Given the description of an element on the screen output the (x, y) to click on. 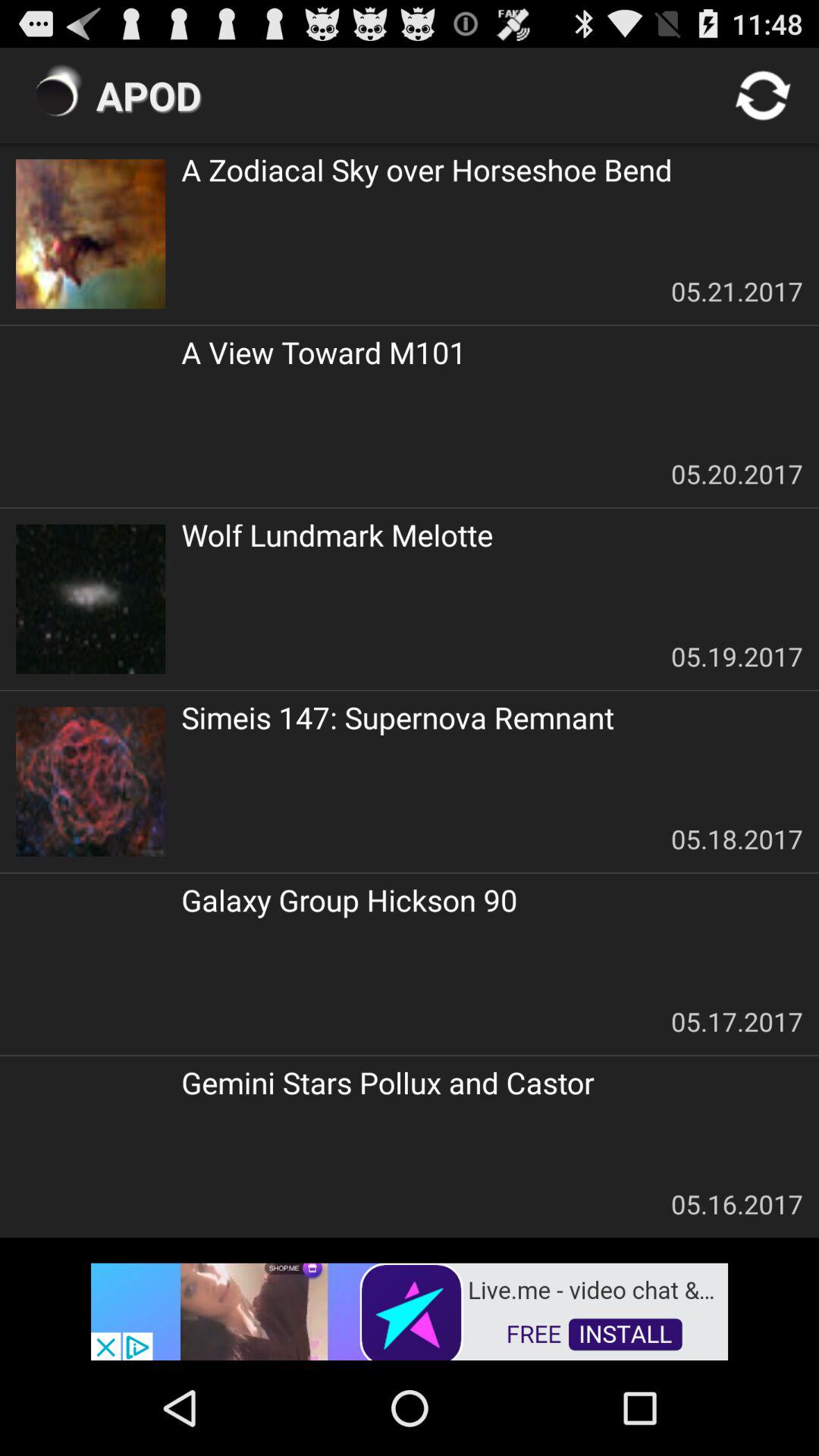
refresh (763, 95)
